Given the description of an element on the screen output the (x, y) to click on. 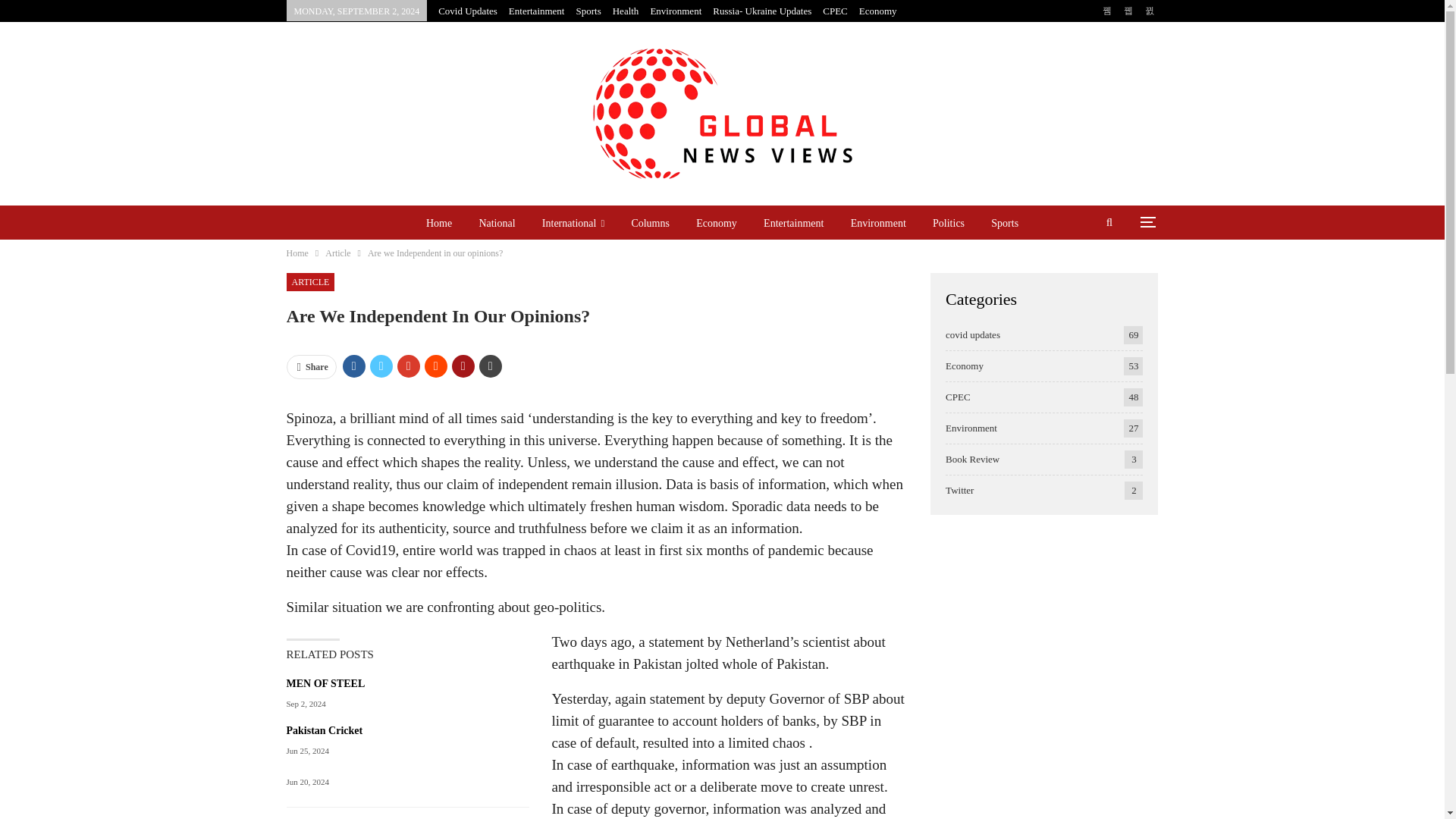
Sports (587, 10)
Covid Updates (467, 10)
Sports (1004, 223)
ARTICLE (310, 281)
Home (438, 223)
Health (625, 10)
Politics (948, 223)
Economy (877, 10)
CPEC (834, 10)
Russia- Ukraine Updates (761, 10)
